Given the description of an element on the screen output the (x, y) to click on. 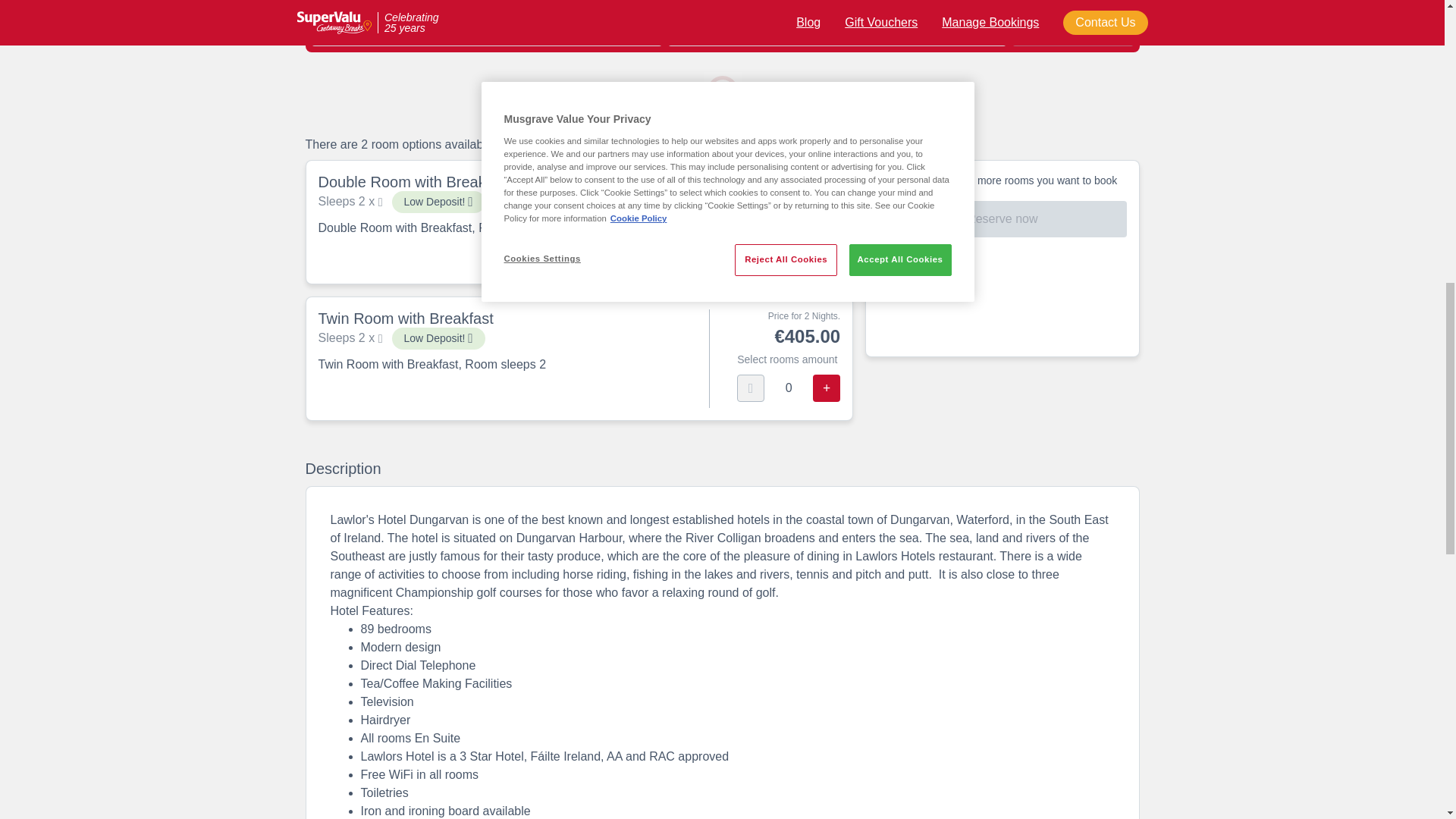
Check availability (1071, 27)
Reserve now (1001, 218)
